Given the description of an element on the screen output the (x, y) to click on. 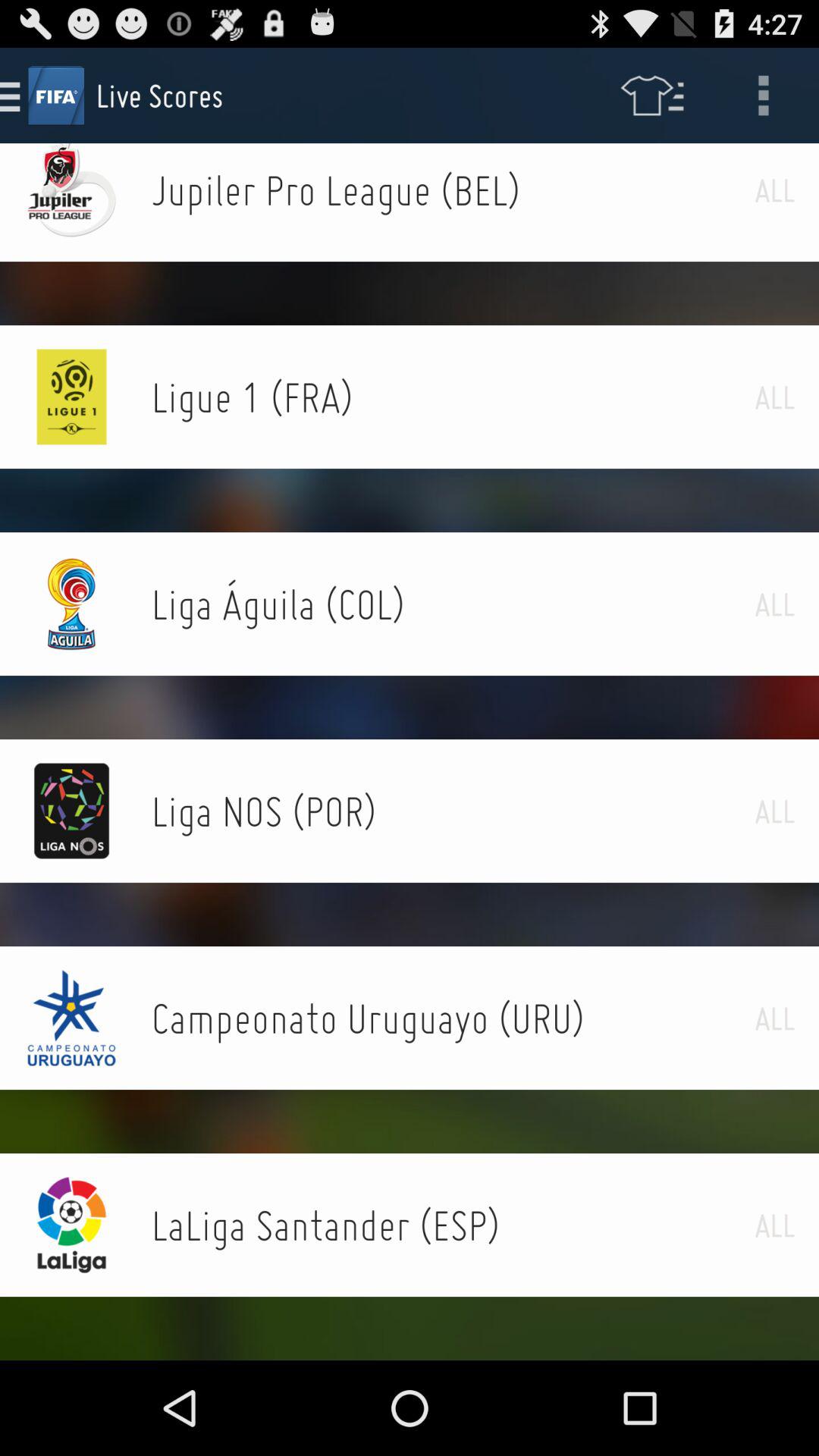
select icon to the left of the all item (452, 810)
